Given the description of an element on the screen output the (x, y) to click on. 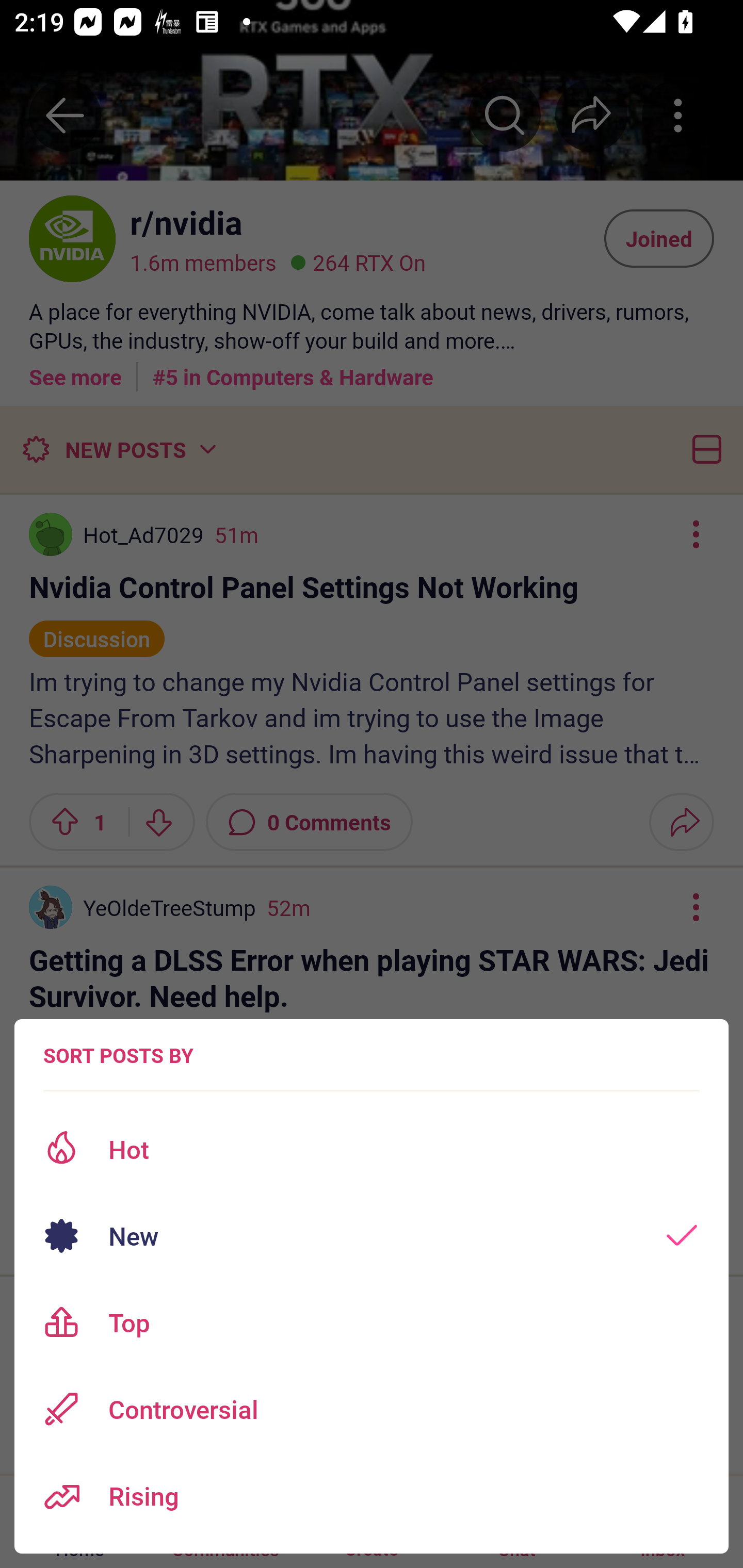
SORT POSTS BY Sort posts options (118, 1055)
Hot (371, 1149)
New (371, 1236)
Top (371, 1322)
Controversial (371, 1408)
Rising (371, 1495)
